Given the description of an element on the screen output the (x, y) to click on. 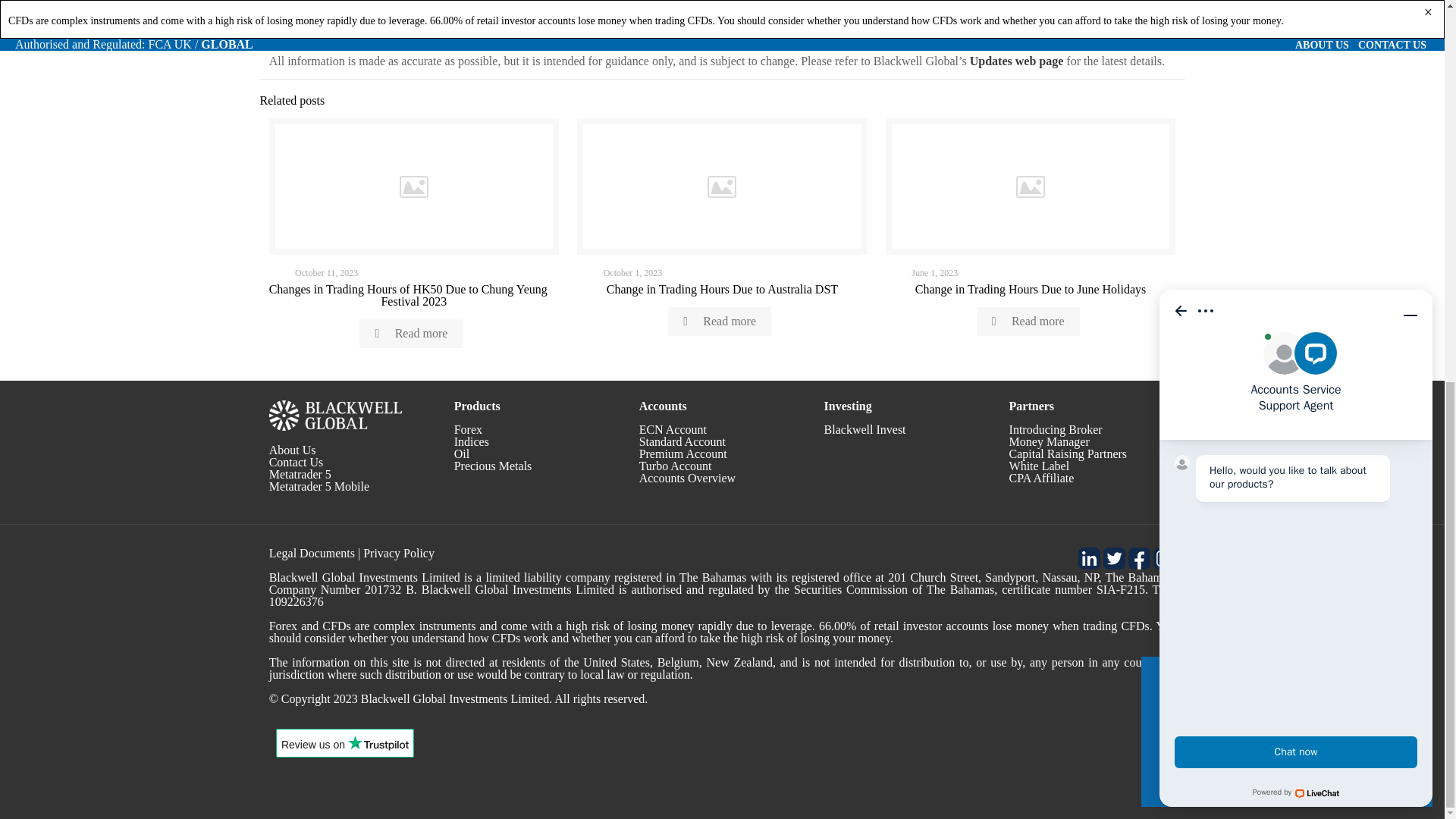
Got it! (1286, 53)
Learn more (1198, 15)
Customer reviews powered by Trustpilot (344, 748)
